Given the description of an element on the screen output the (x, y) to click on. 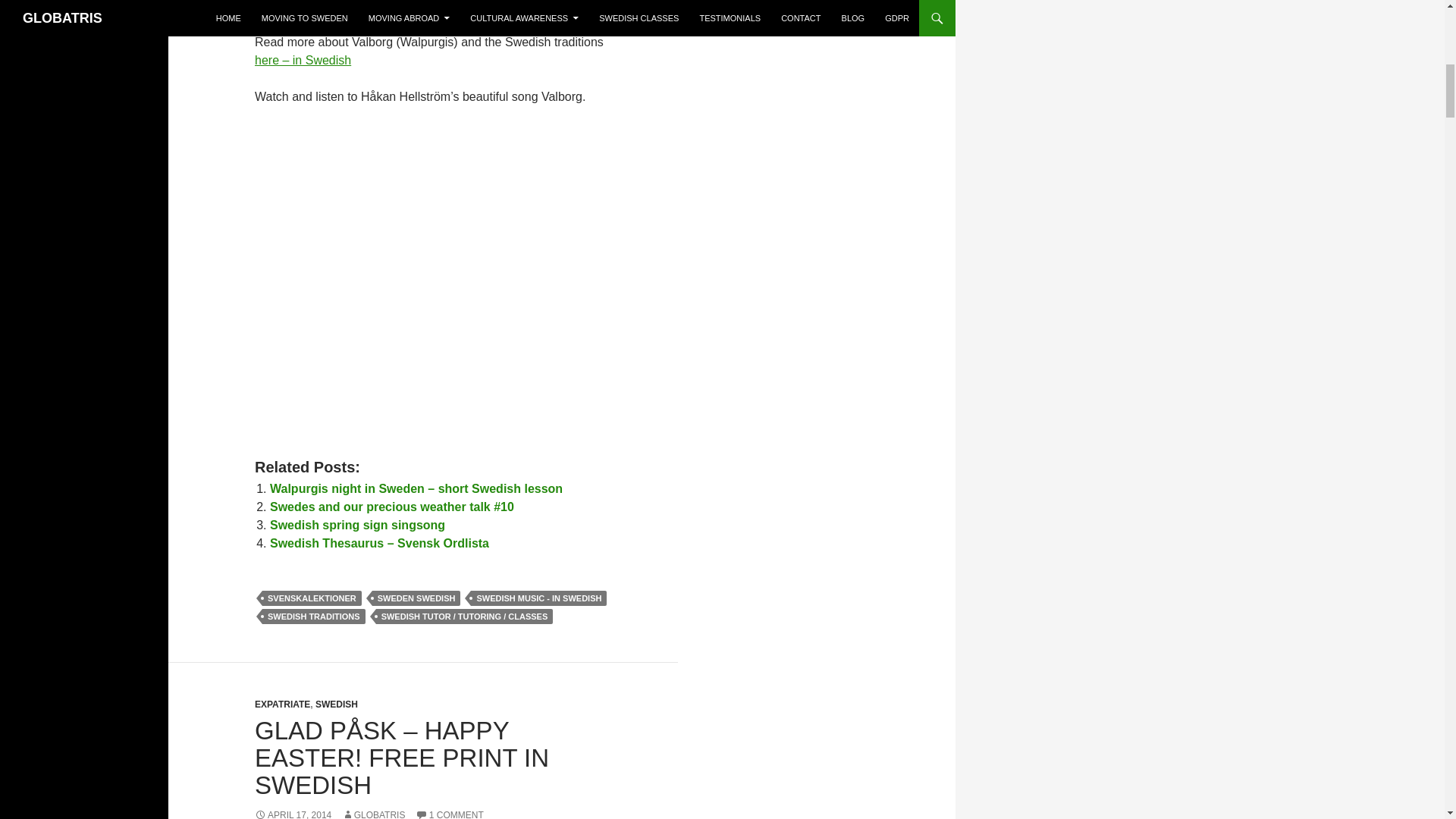
SWEDEN SWEDISH (416, 598)
Valborg (302, 60)
Swedish spring sign singsong (357, 524)
SVENSKALEKTIONER (311, 598)
Swedish spring sign singsong (357, 524)
